Given the description of an element on the screen output the (x, y) to click on. 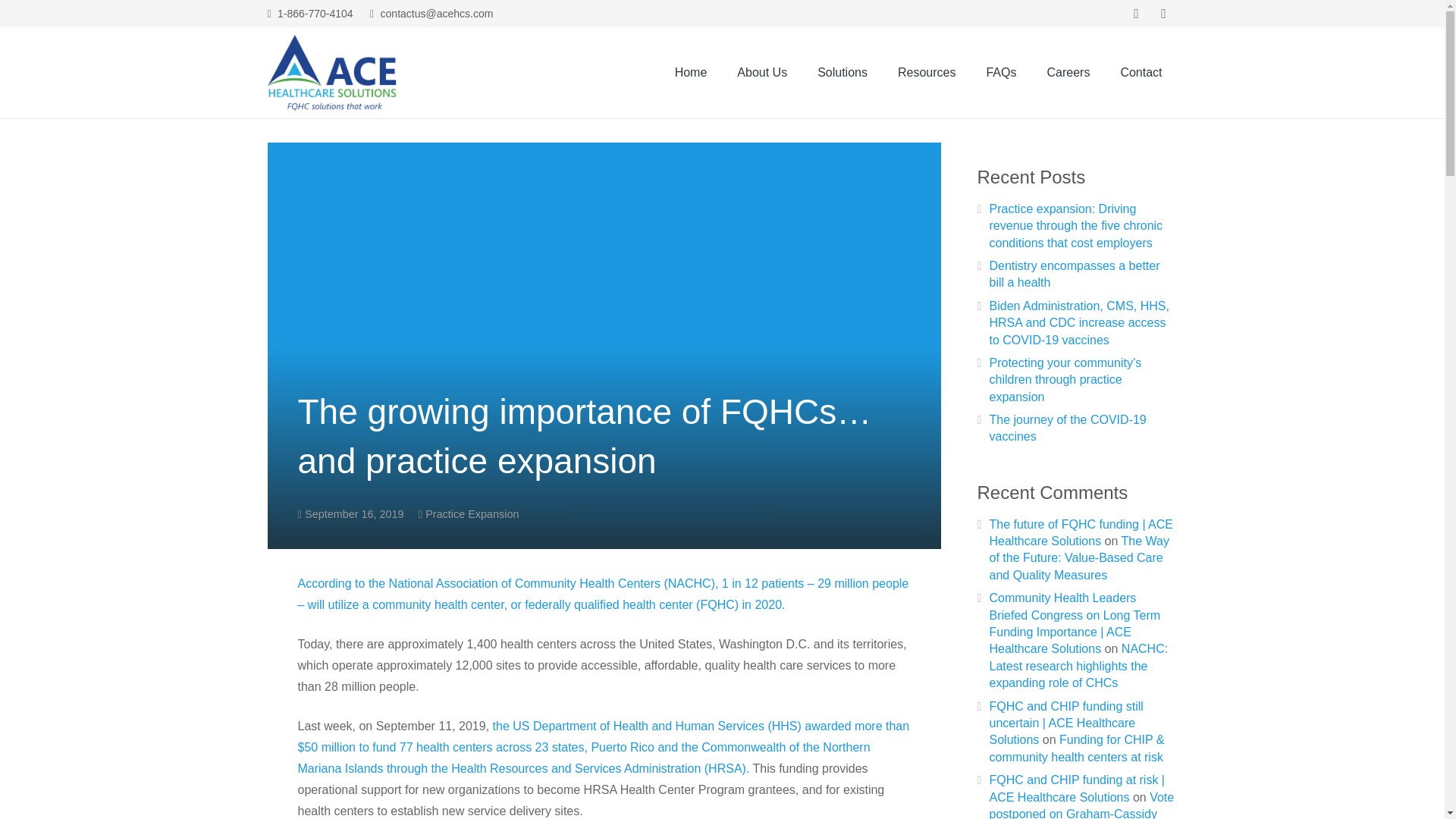
Resources (926, 72)
Facebook (1136, 13)
Practice Expansion (471, 513)
LinkedIn (1163, 13)
